Given the description of an element on the screen output the (x, y) to click on. 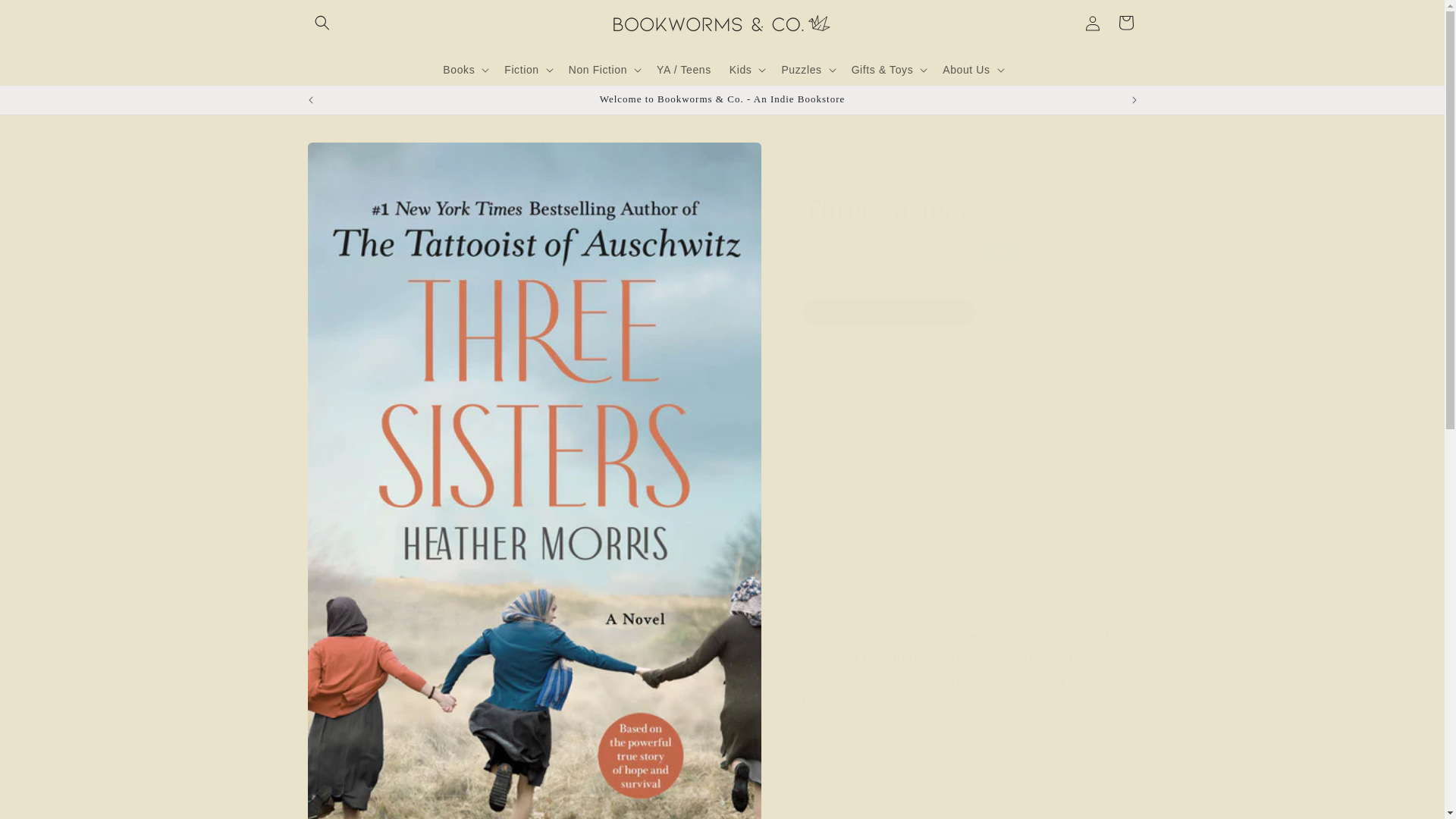
Skip to content (45, 17)
1 (856, 375)
